Given the description of an element on the screen output the (x, y) to click on. 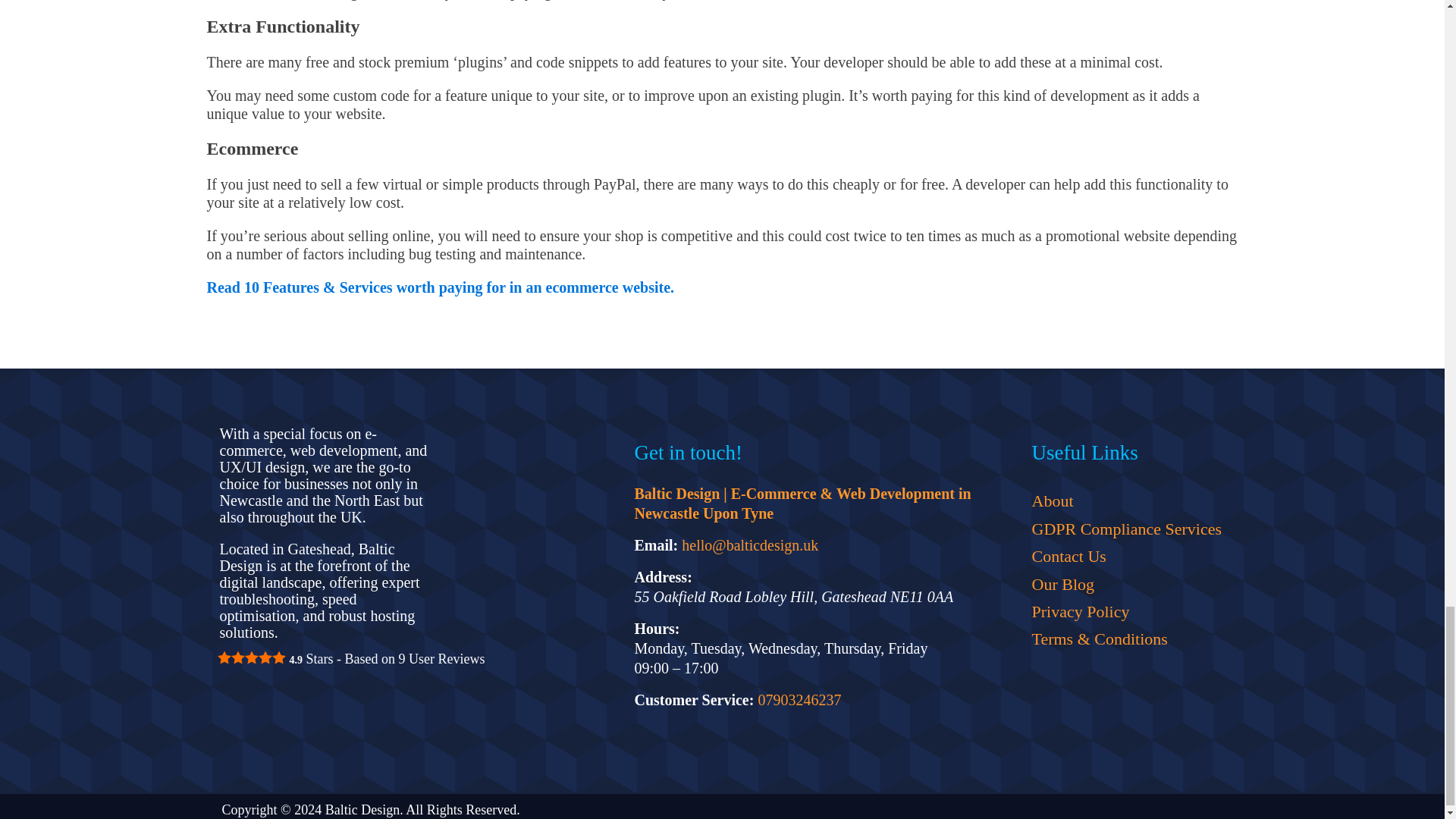
About (1125, 501)
Privacy Policy (1125, 611)
Our Blog (1125, 584)
07903246237 (799, 699)
Contact Us (1125, 556)
GDPR Compliance Services (1125, 528)
